Given the description of an element on the screen output the (x, y) to click on. 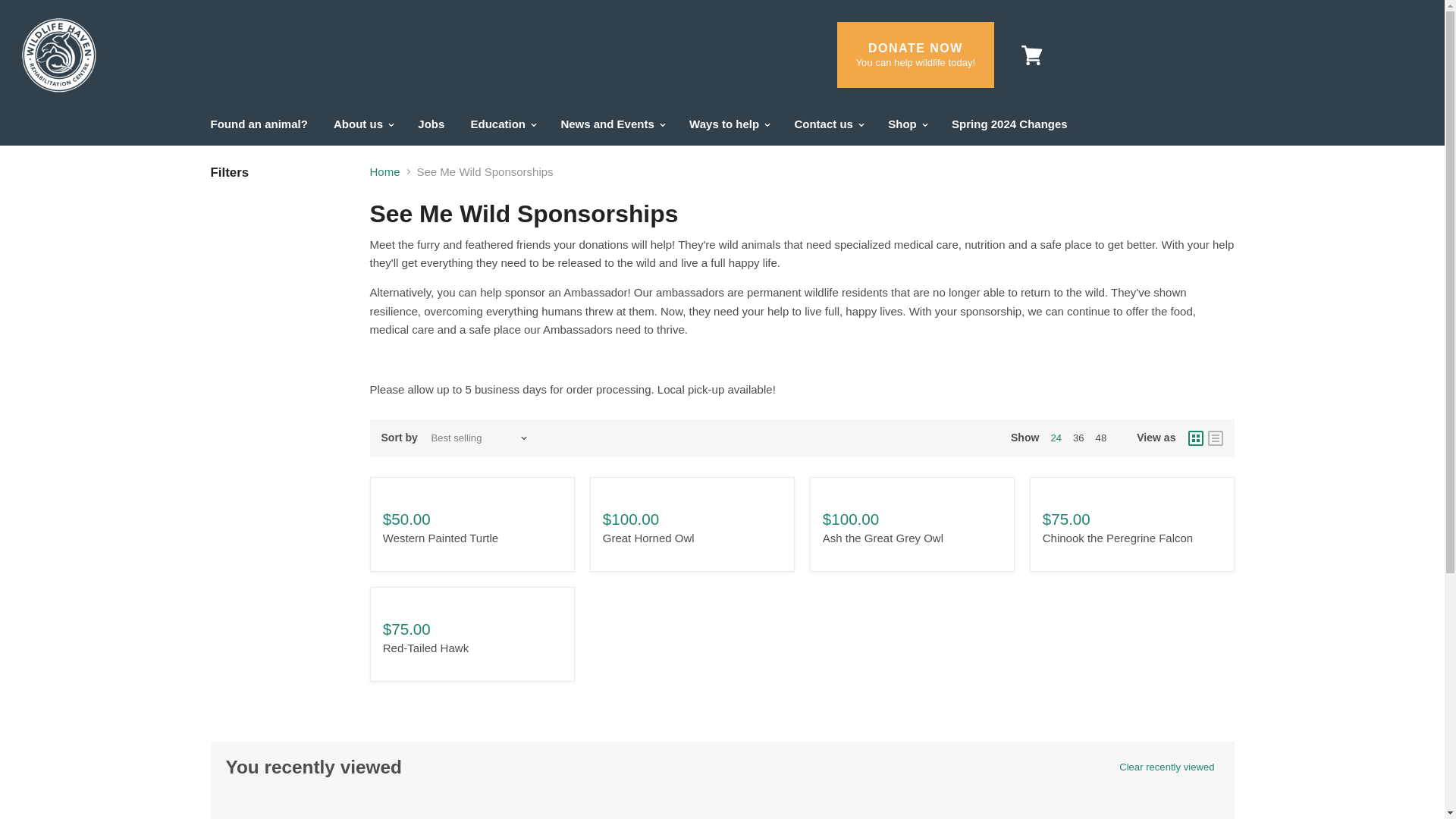
Ways to help (728, 123)
Education (503, 123)
About us (362, 123)
Jobs (430, 123)
Shop (906, 123)
View cart (1031, 54)
Contact us (828, 123)
News and Events (611, 123)
Found an animal? (258, 123)
